Given the description of an element on the screen output the (x, y) to click on. 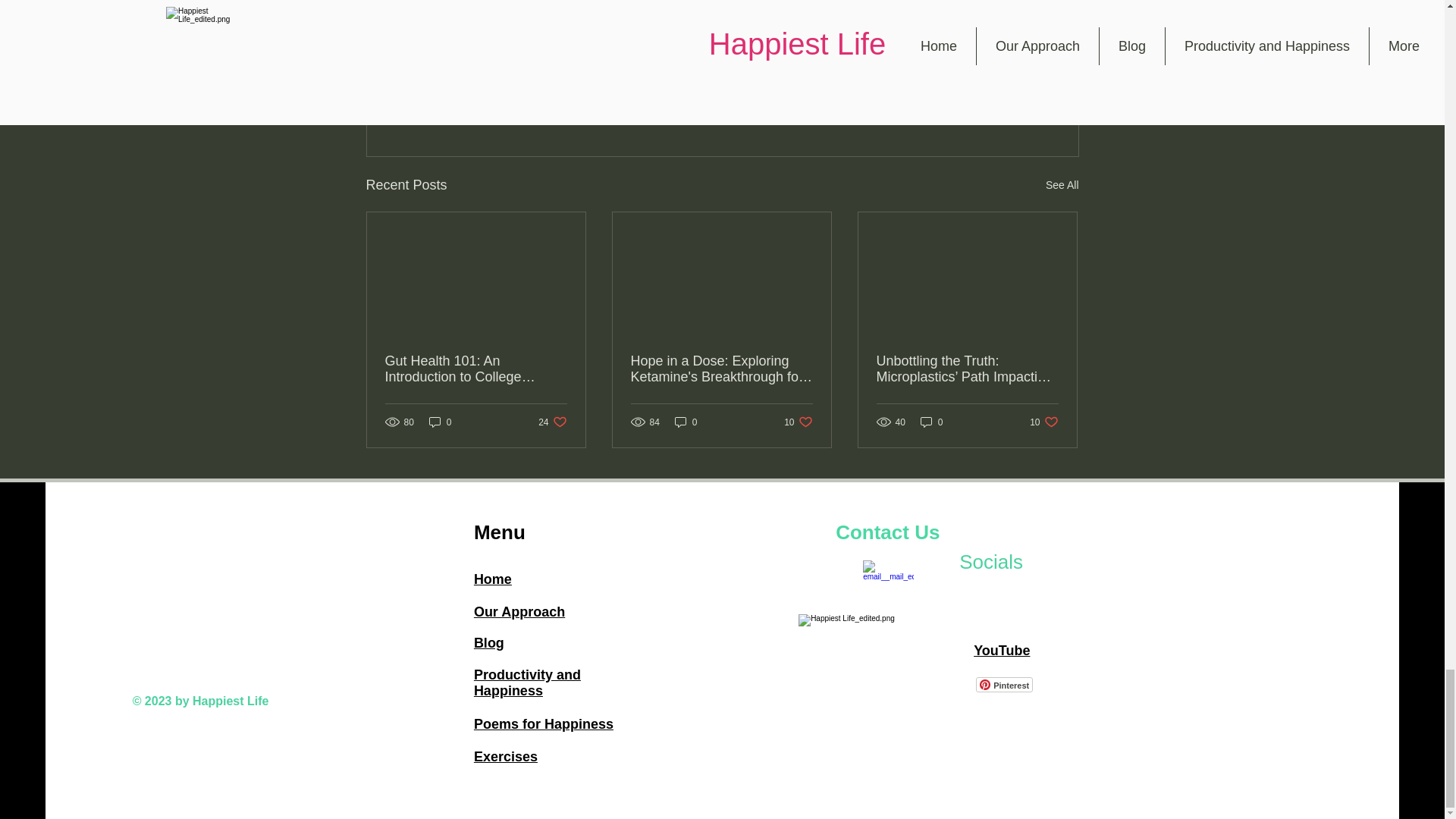
headache (666, 5)
drinking (598, 5)
hangover cure (750, 5)
hangover (473, 5)
Pinterest (1003, 684)
alcohol (538, 5)
